Given the description of an element on the screen output the (x, y) to click on. 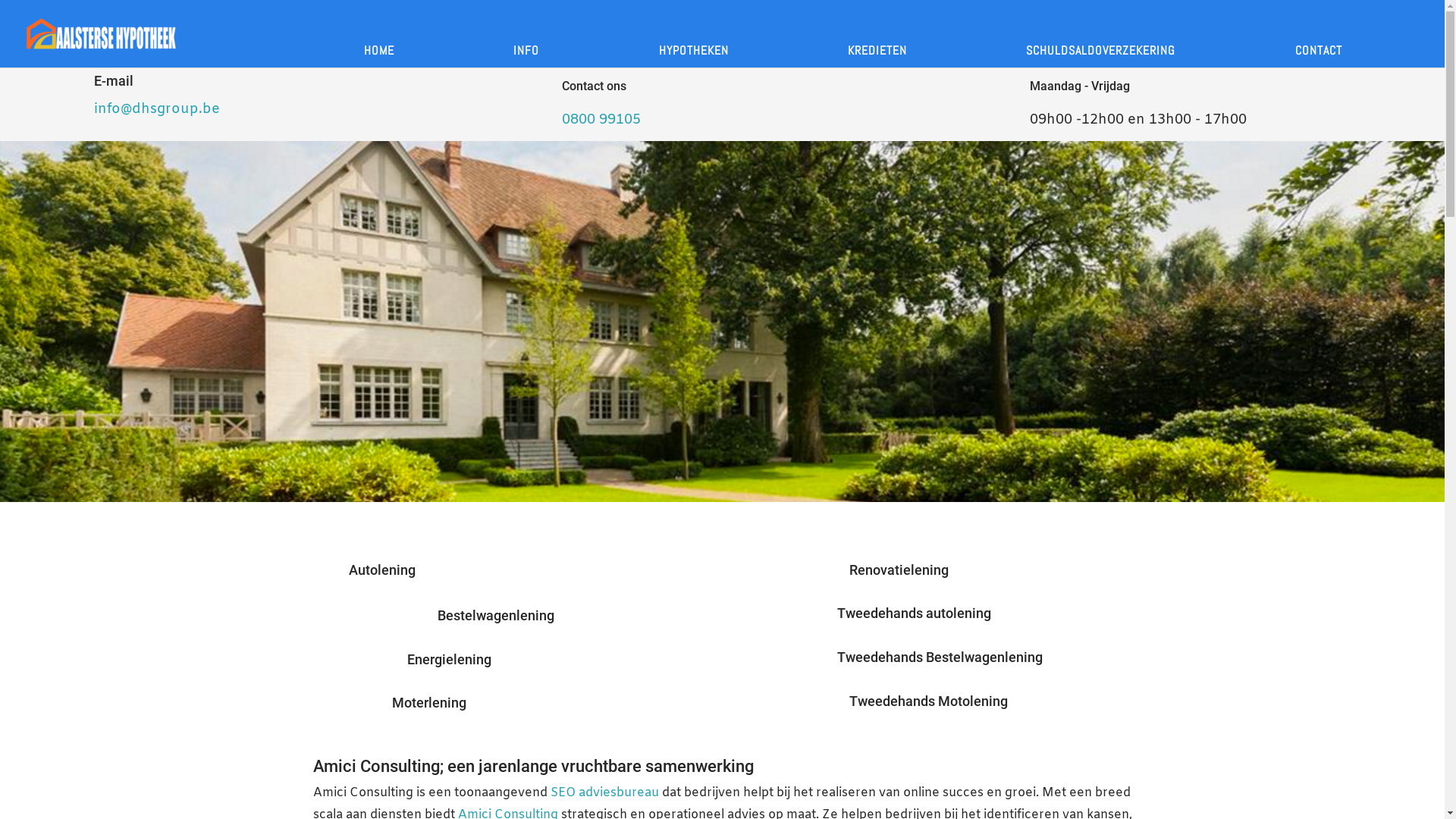
Moterlening Element type: text (428, 702)
Energielening Element type: text (448, 659)
0800 99105 Element type: text (600, 119)
KREDIETEN Element type: text (876, 33)
HYPOTHEKEN Element type: text (693, 33)
INFO Element type: text (526, 33)
Renovatielening Element type: text (898, 569)
HOME Element type: text (379, 33)
SCHULDSALDOVERZEKERING Element type: text (1100, 33)
SEO adviesbureau Element type: text (604, 792)
CONTACT Element type: text (1318, 33)
Bestelwagenlening Element type: text (494, 615)
Tweedehands autolening Element type: text (914, 613)
Tweedehands Motolening Element type: text (928, 701)
info@dhsgroup.be Element type: text (156, 109)
Autolening Element type: text (381, 569)
Tweedehands Bestelwagenlening Element type: text (939, 657)
